Given the description of an element on the screen output the (x, y) to click on. 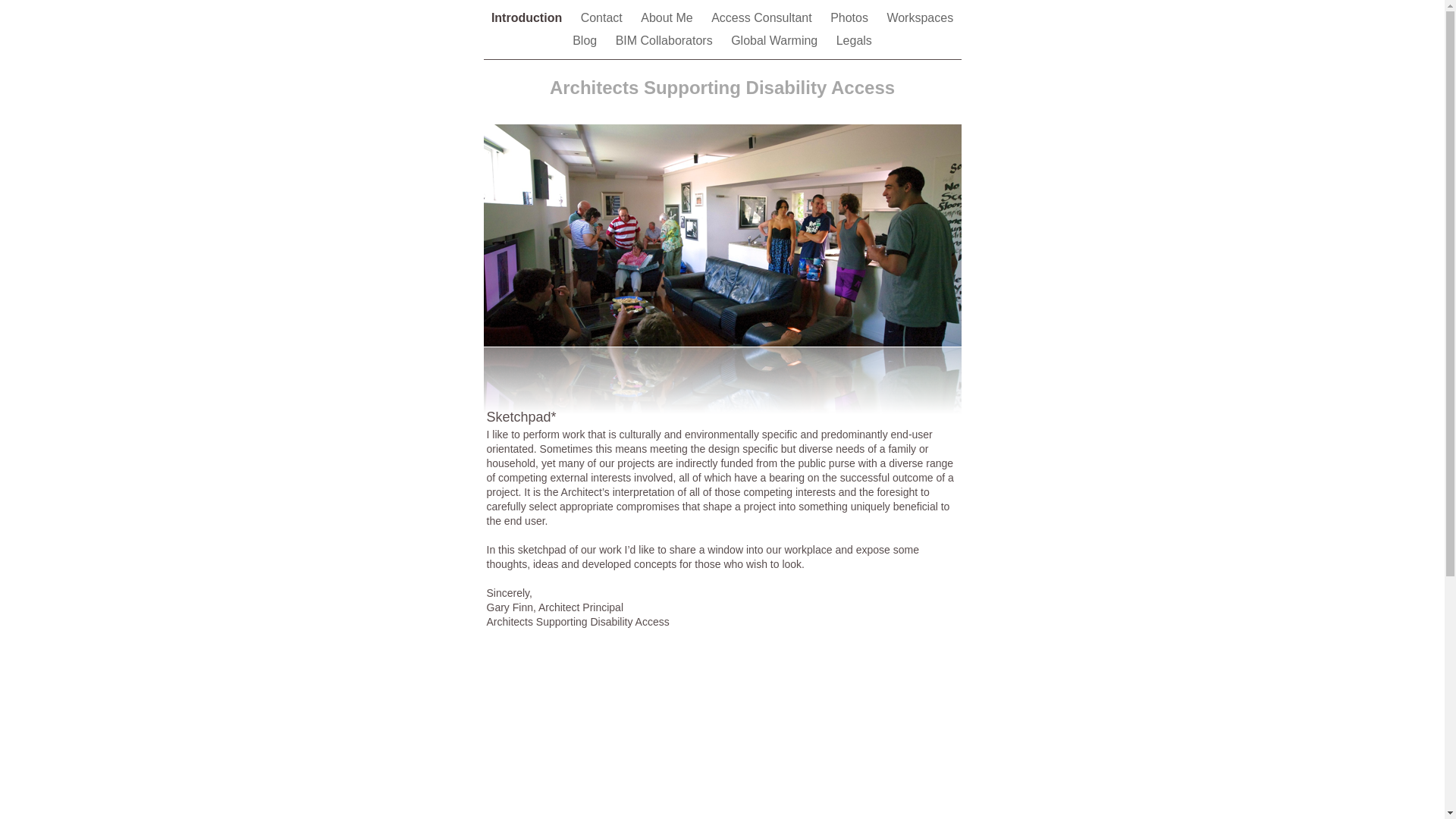
About Me Element type: text (668, 17)
Access Consultant Element type: text (763, 17)
Global Warming Element type: text (776, 40)
Blog Element type: text (585, 40)
Contact Element type: text (603, 17)
Legals Element type: text (854, 40)
Photos Element type: text (850, 17)
Introduction Element type: text (528, 17)
BIM Collaborators Element type: text (665, 40)
Workspaces Element type: text (919, 17)
